Given the description of an element on the screen output the (x, y) to click on. 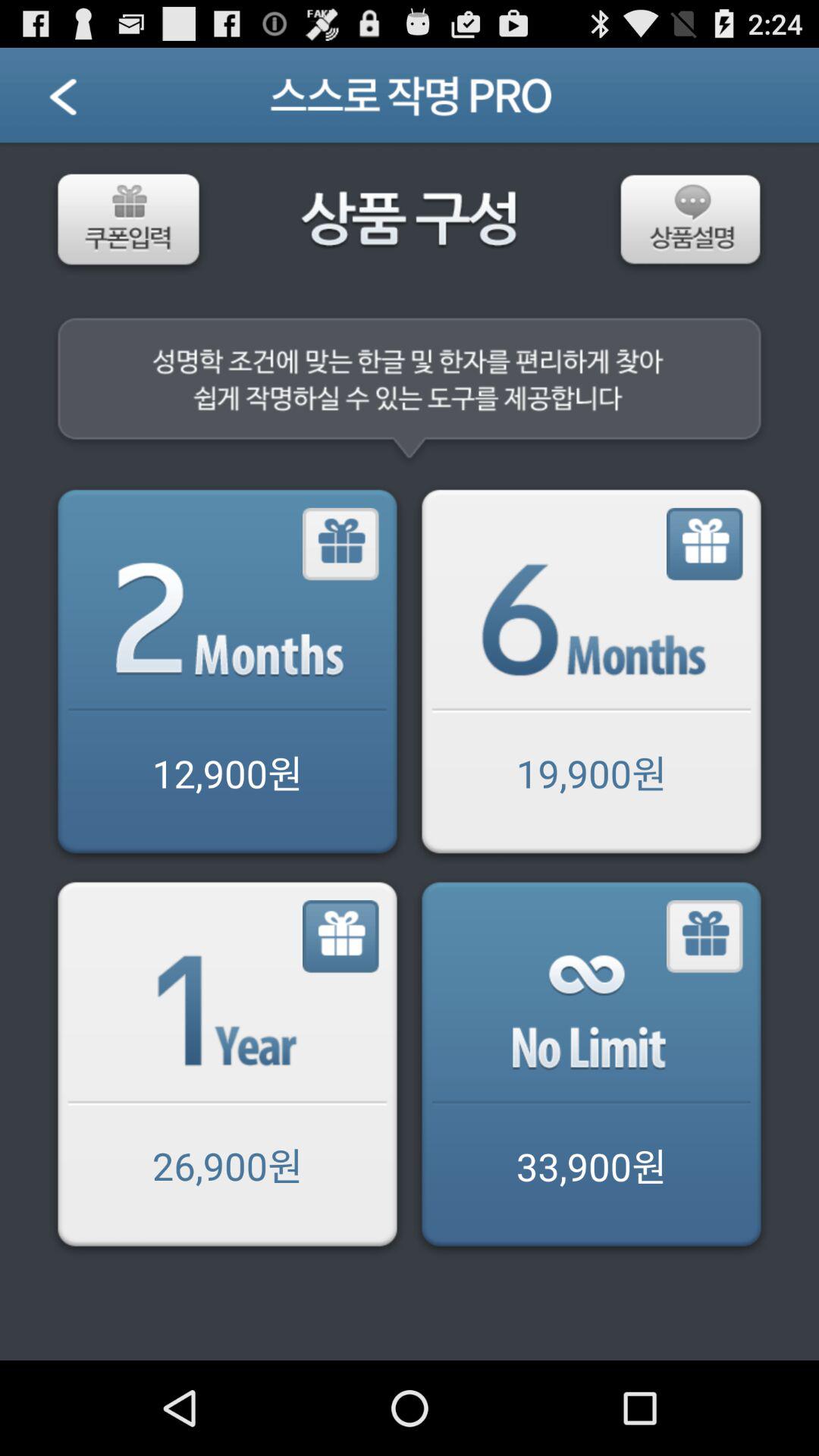
go to months (704, 544)
